Given the description of an element on the screen output the (x, y) to click on. 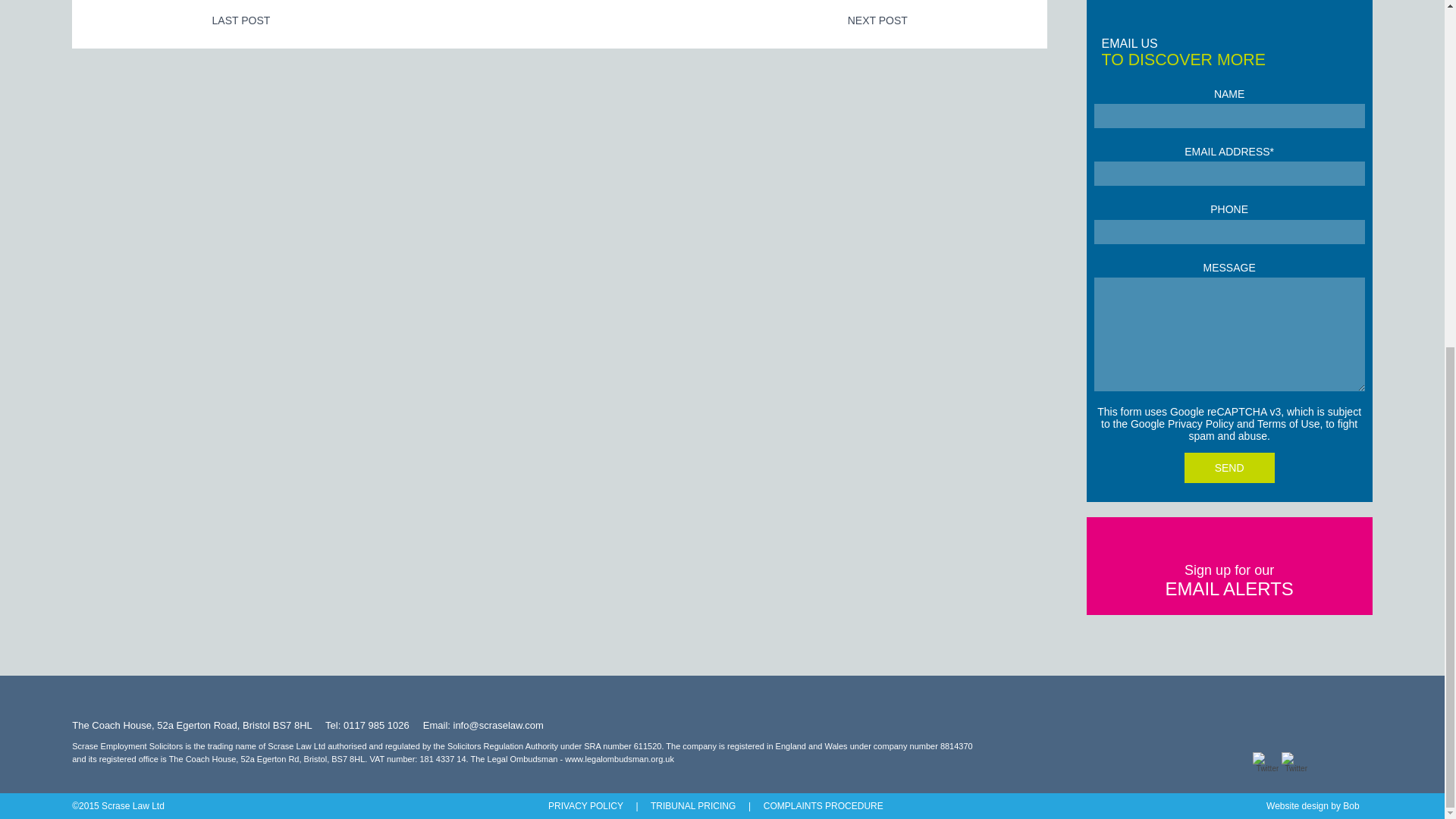
Send (1230, 467)
NEXT POST (877, 20)
LAST POST (241, 20)
